Given the description of an element on the screen output the (x, y) to click on. 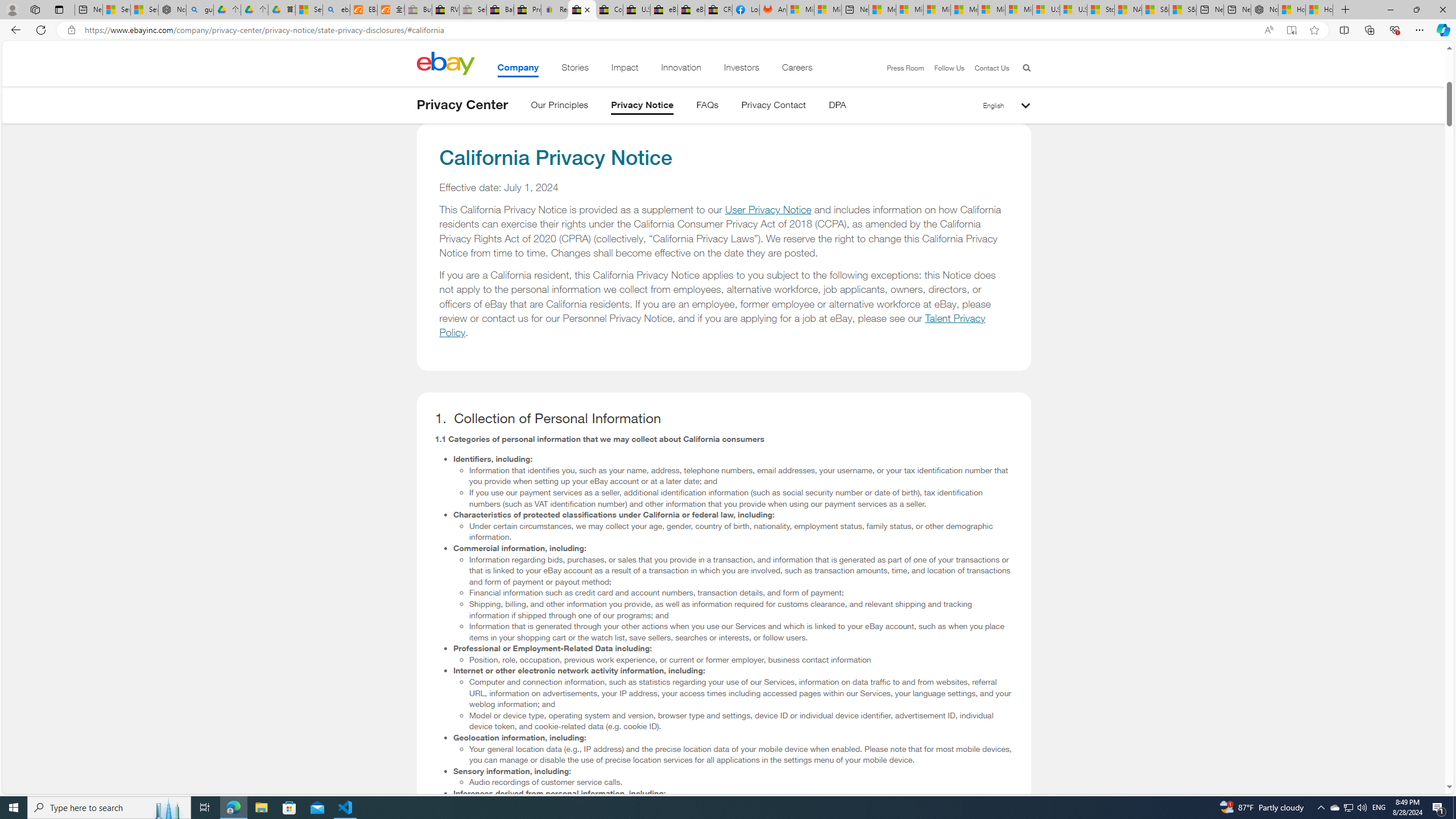
U.S. State Privacy Disclosures - eBay Inc. (636, 9)
Microsoft account | Home (936, 9)
Enter Immersive Reader (F9) (1291, 29)
Our Principles (558, 107)
